Given the description of an element on the screen output the (x, y) to click on. 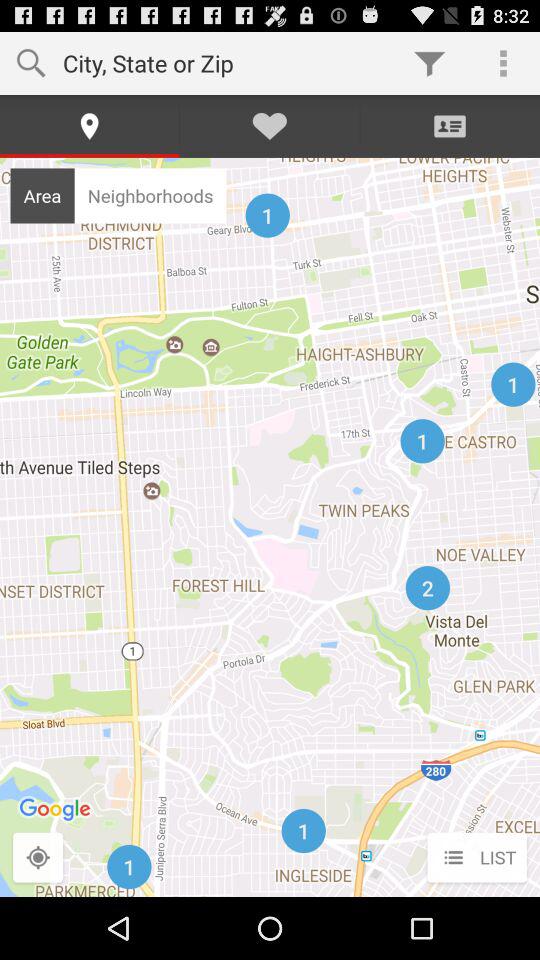
turn off list icon (476, 858)
